Given the description of an element on the screen output the (x, y) to click on. 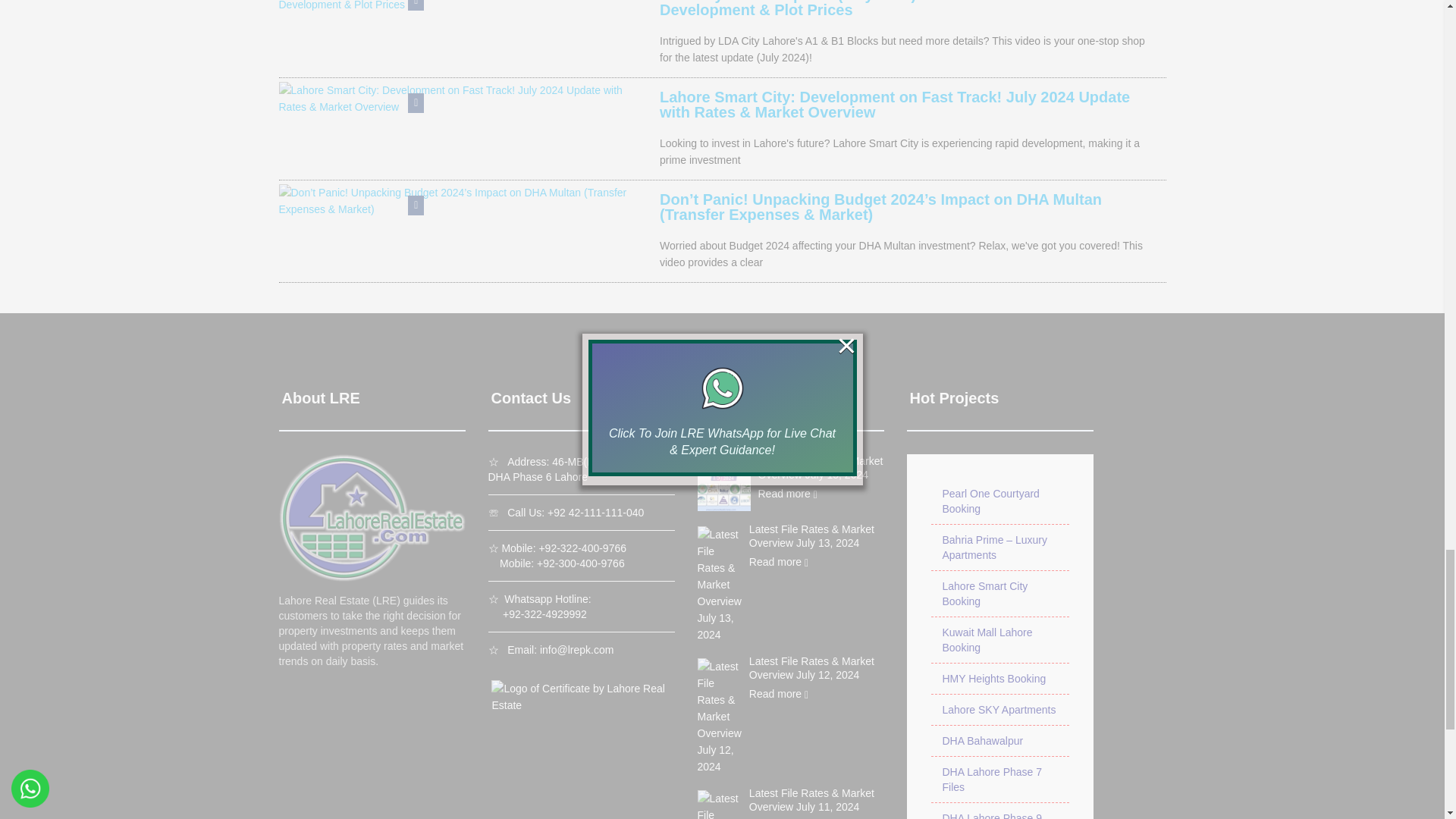
Logo of Certificate by Lahore Real Estate (580, 696)
